Given the description of an element on the screen output the (x, y) to click on. 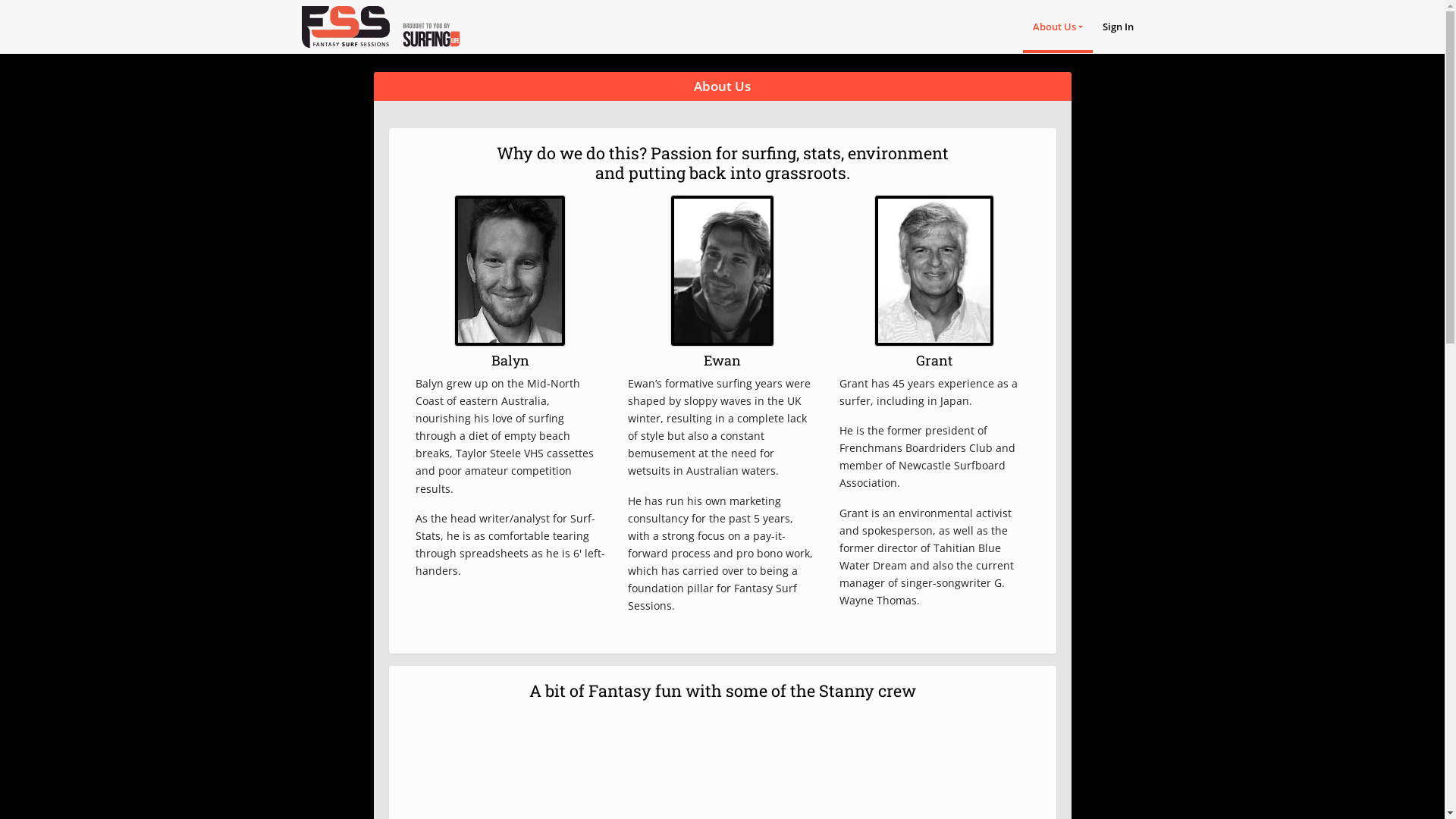
Sign In Element type: text (1117, 26)
About Us Element type: text (1057, 26)
